Given the description of an element on the screen output the (x, y) to click on. 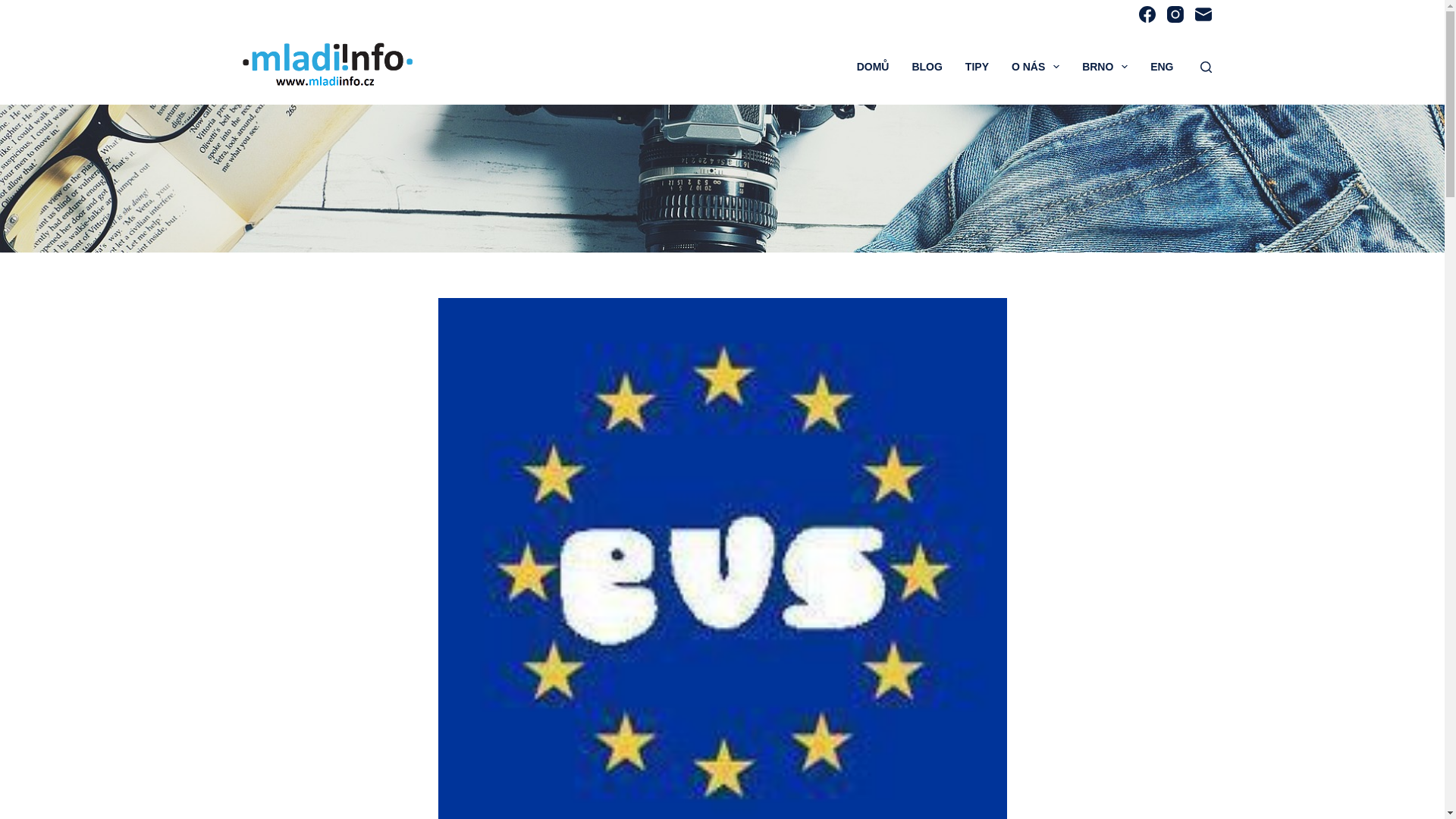
BRNO (1104, 66)
Skip to content (15, 7)
